Given the description of an element on the screen output the (x, y) to click on. 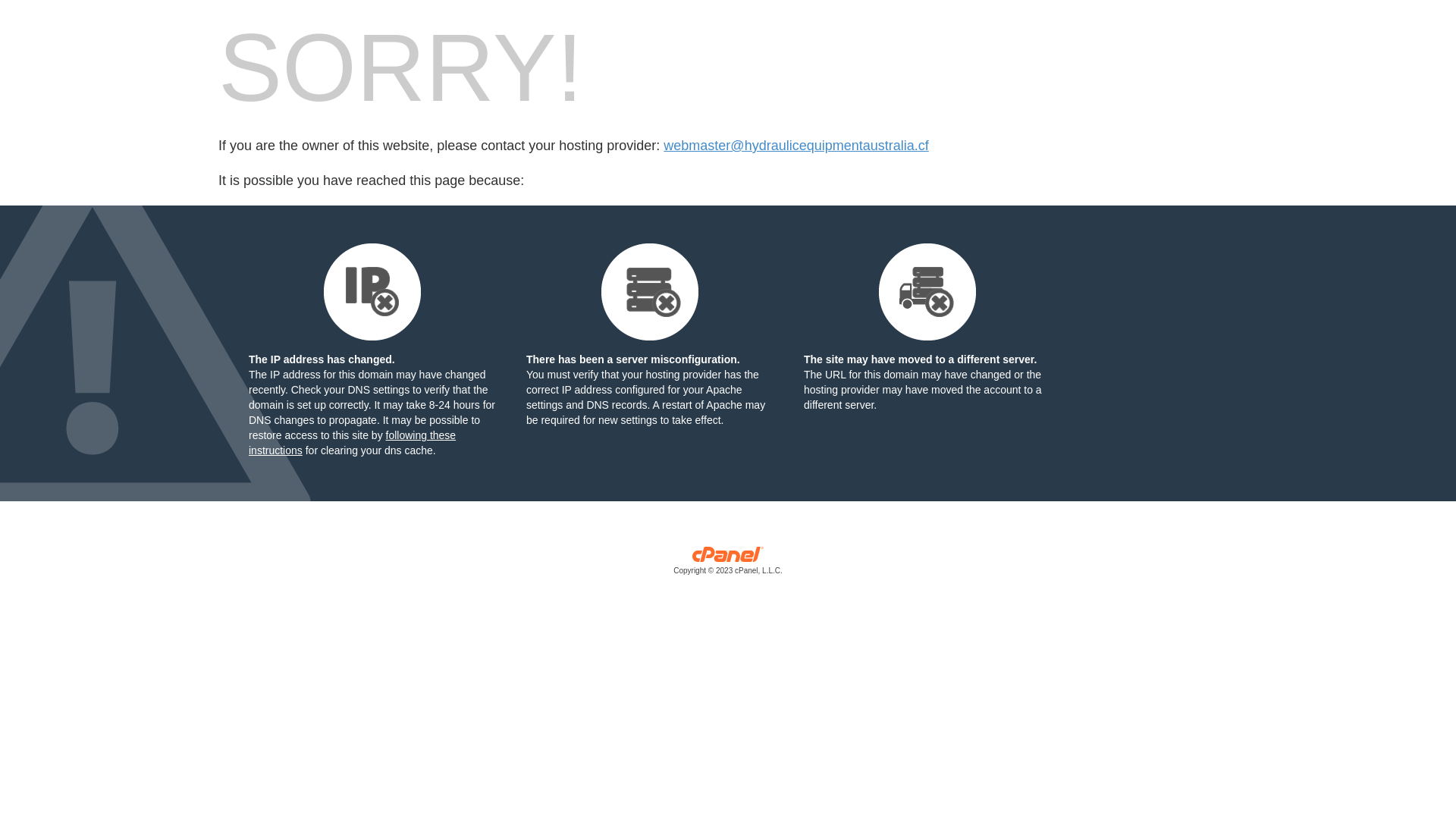
webmaster@hydraulicequipmentaustralia.cf Element type: text (795, 145)
following these instructions Element type: text (351, 442)
